Given the description of an element on the screen output the (x, y) to click on. 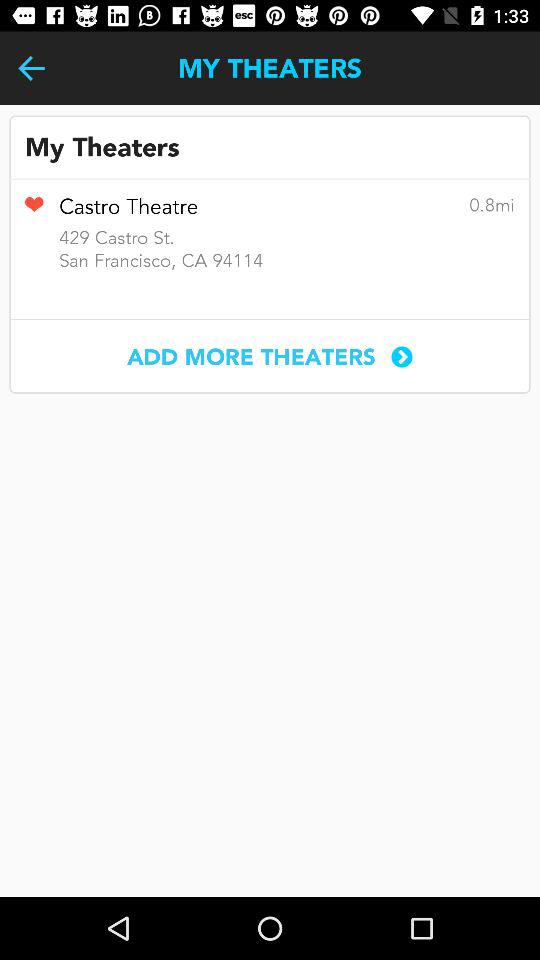
launch the icon next to castro theatre item (34, 211)
